Given the description of an element on the screen output the (x, y) to click on. 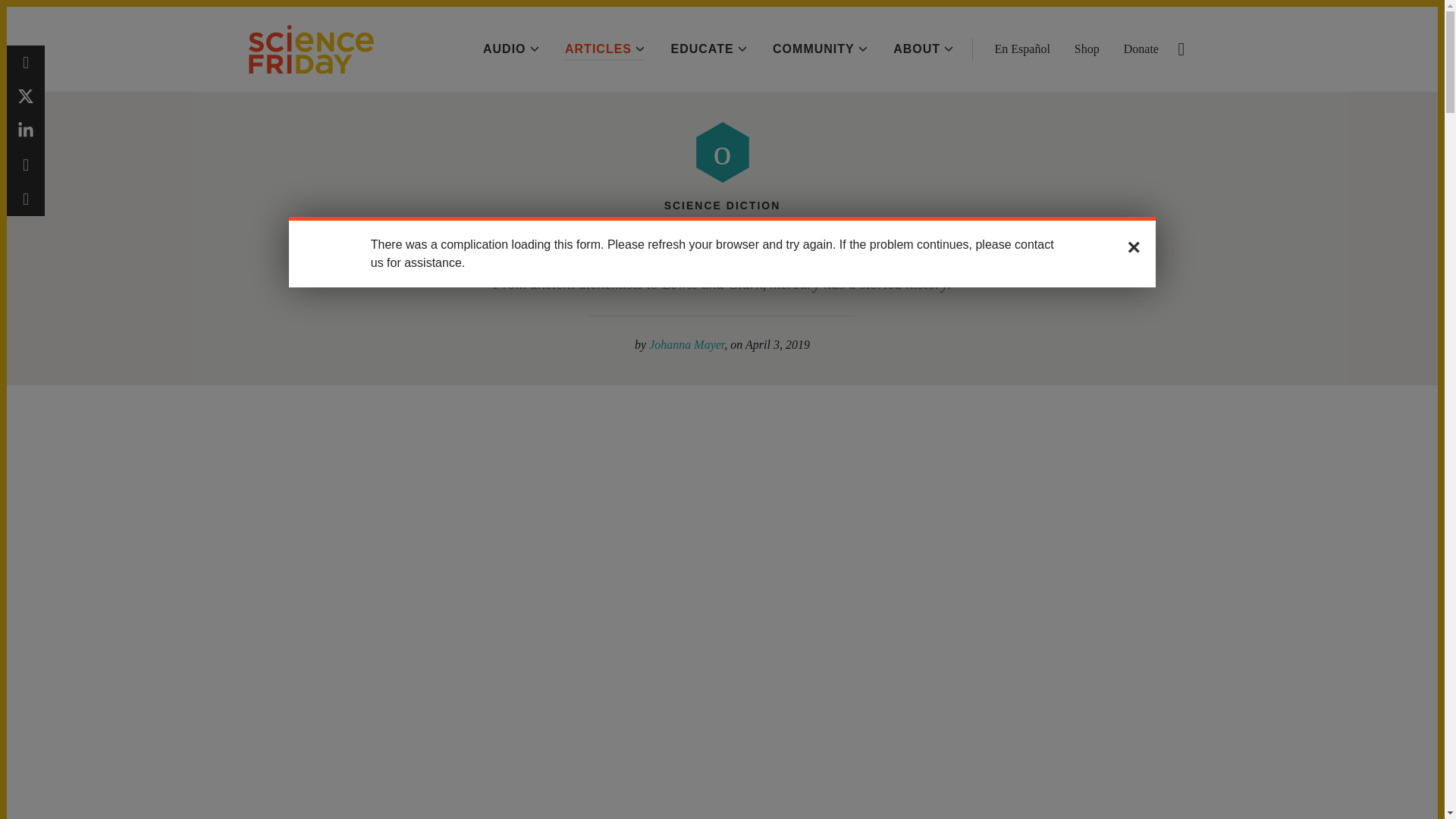
AUDIO (510, 48)
Reddit (26, 164)
Article (721, 152)
Email (26, 198)
View all post filed under Science Diction (721, 205)
Shop (1086, 48)
X (26, 96)
LinkedIn (26, 130)
LinkedIn (26, 130)
EDUCATE (707, 48)
ABOUT (923, 48)
Facebook (26, 62)
Facebook (26, 62)
Reddit (26, 164)
